Given the description of an element on the screen output the (x, y) to click on. 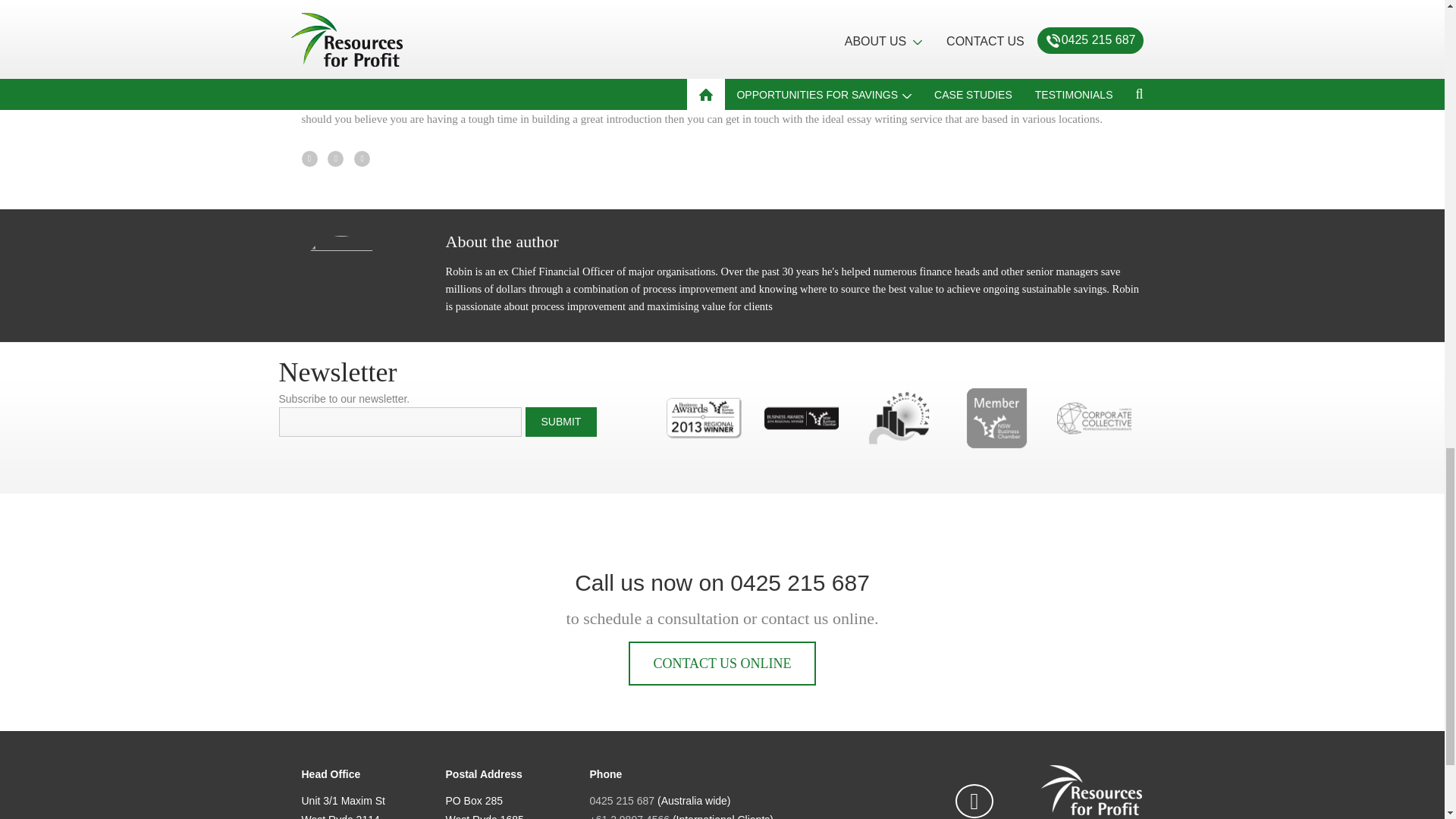
Submit (560, 421)
Email (400, 421)
Linkedin (974, 800)
